Given the description of an element on the screen output the (x, y) to click on. 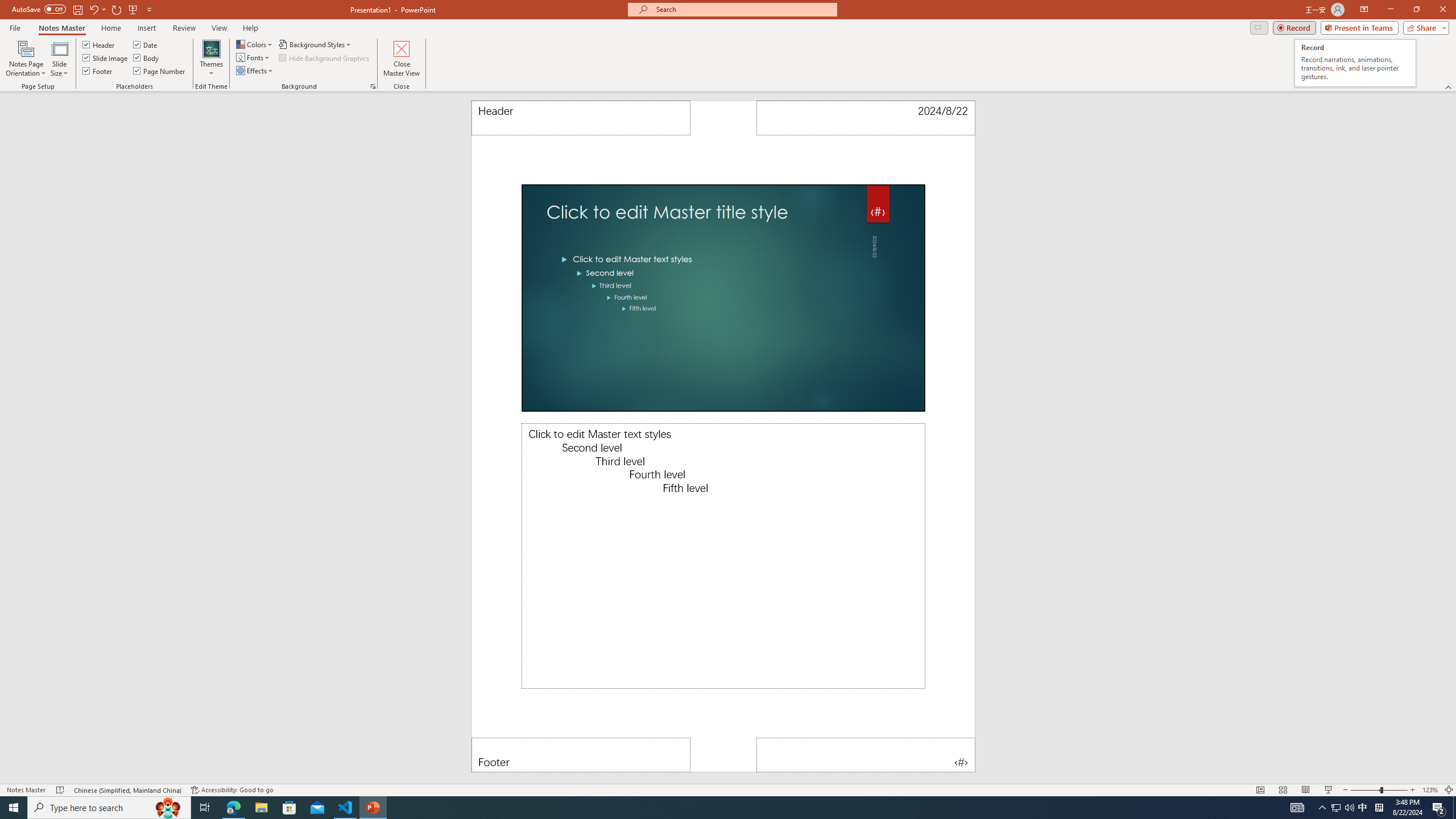
Footer (580, 754)
Date (146, 44)
Body (147, 56)
